Given the description of an element on the screen output the (x, y) to click on. 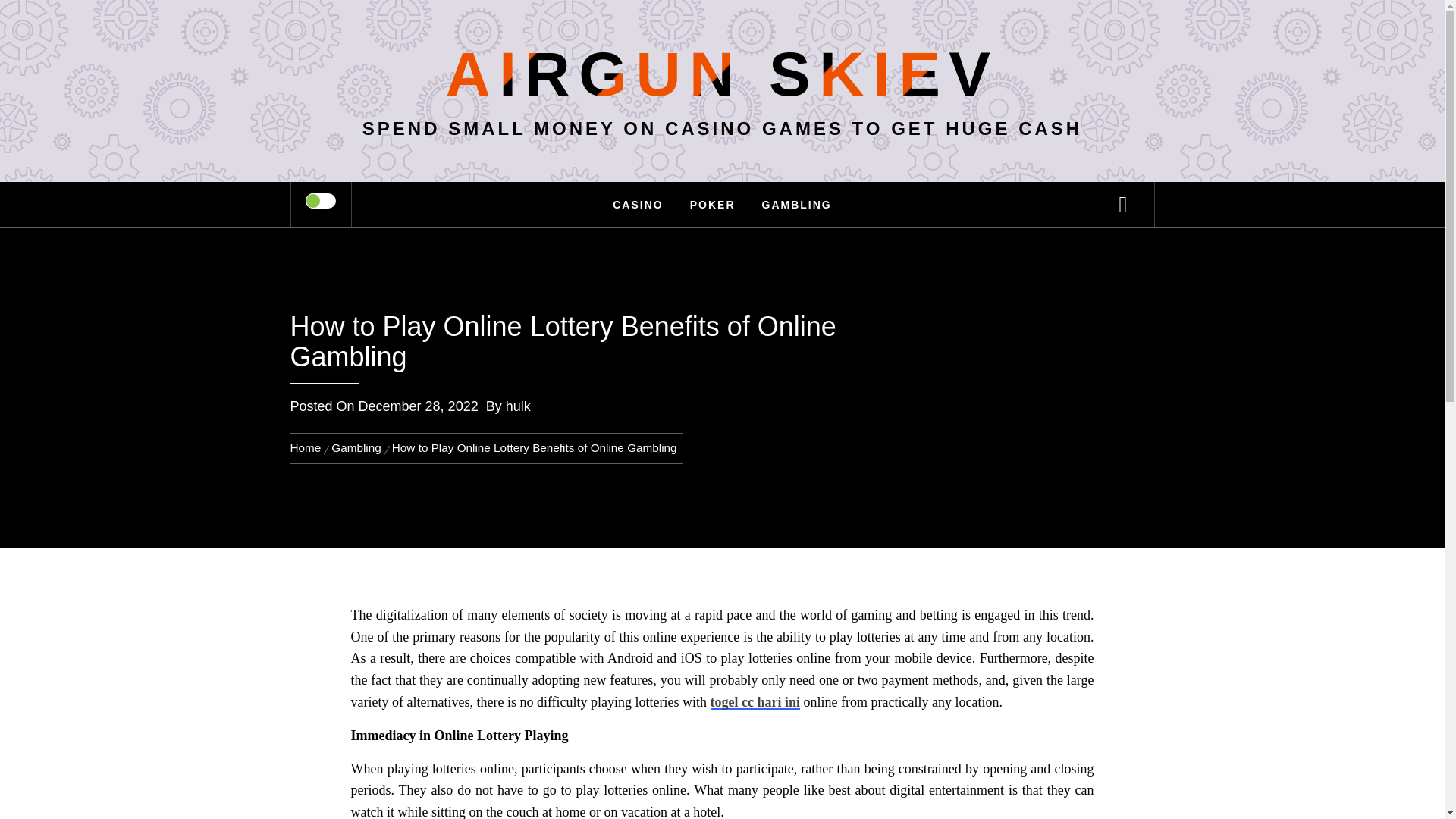
Gambling (355, 447)
Home (307, 447)
POKER (712, 204)
GAMBLING (797, 204)
togel cc hari ini (754, 702)
Search (797, 33)
December 28, 2022 (418, 406)
CASINO (637, 204)
AIRGUN SKIEV (721, 73)
hulk (518, 406)
